Given the description of an element on the screen output the (x, y) to click on. 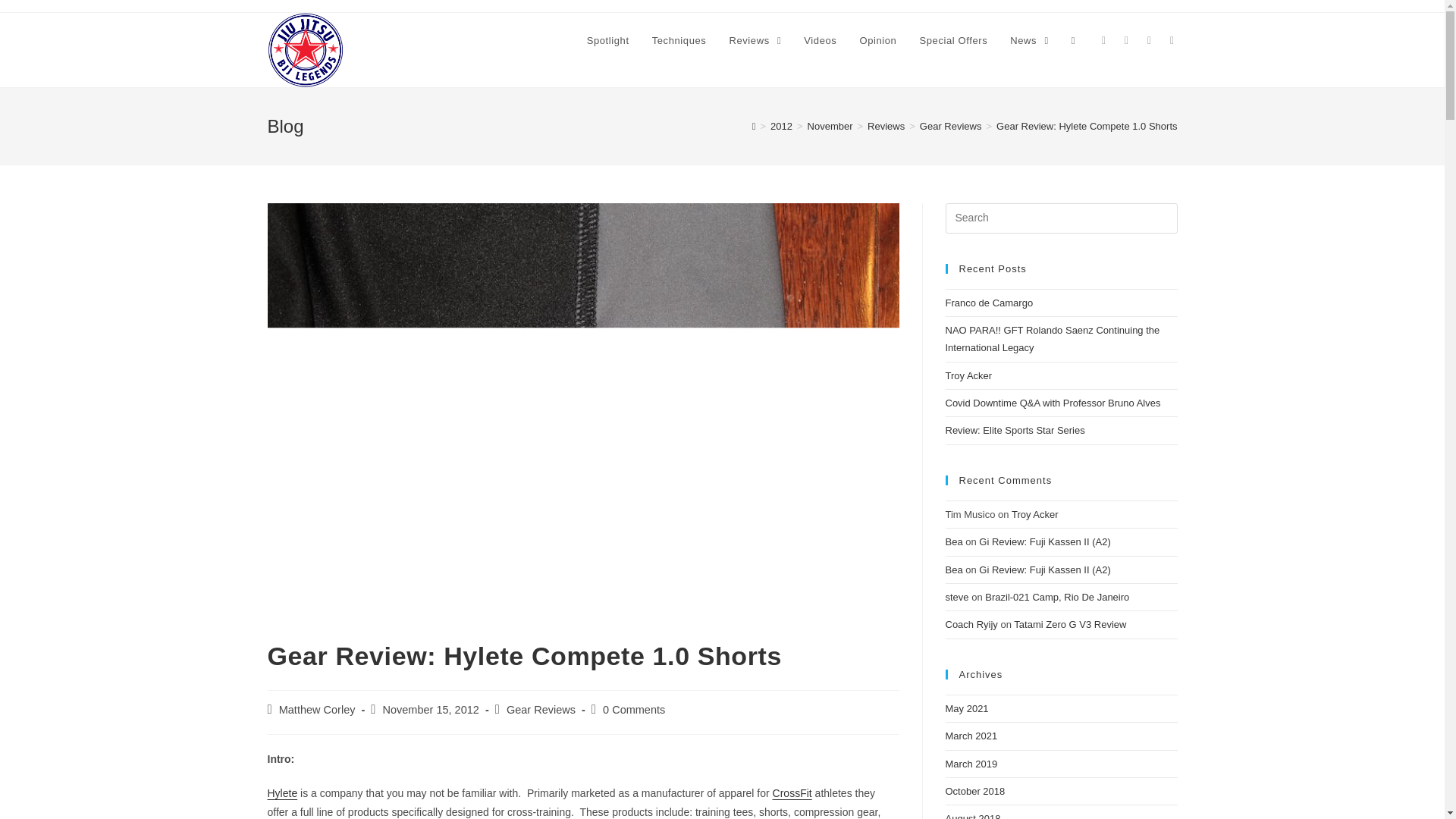
Videos (819, 40)
News (1028, 40)
Spotlight (607, 40)
Posts by Matthew Corley (317, 709)
Special Offers (952, 40)
Opinion (877, 40)
Reviews (754, 40)
Techniques (678, 40)
